Given the description of an element on the screen output the (x, y) to click on. 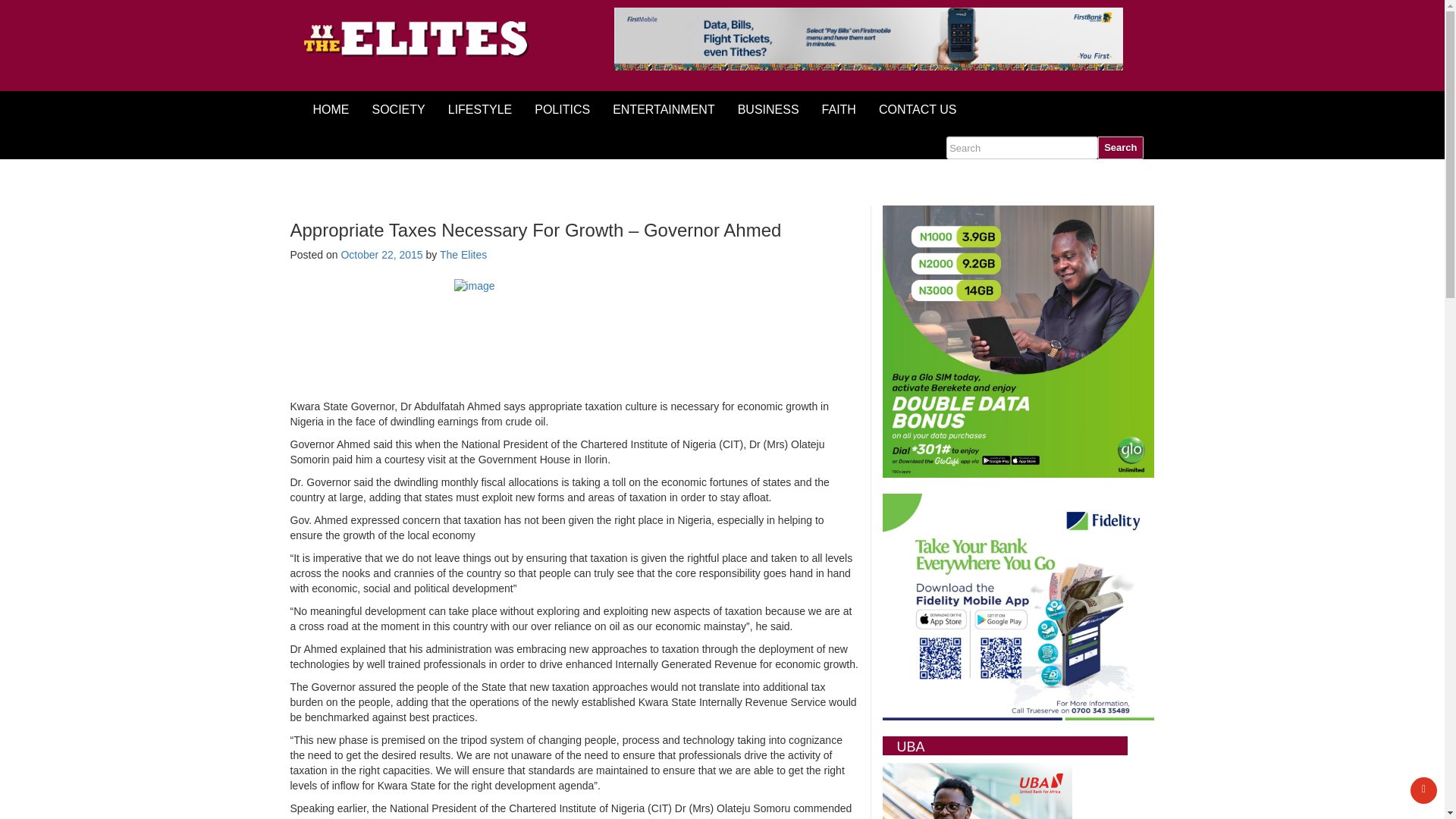
The Elites (462, 254)
BUSINESS (768, 109)
FAITH (838, 109)
October 22, 2015 (381, 254)
CONTACT US (917, 109)
LIFESTYLE (479, 109)
HOME (331, 109)
POLITICS (561, 109)
ENTERTAINMENT (663, 109)
SOCIETY (398, 109)
Search (1119, 147)
